Given the description of an element on the screen output the (x, y) to click on. 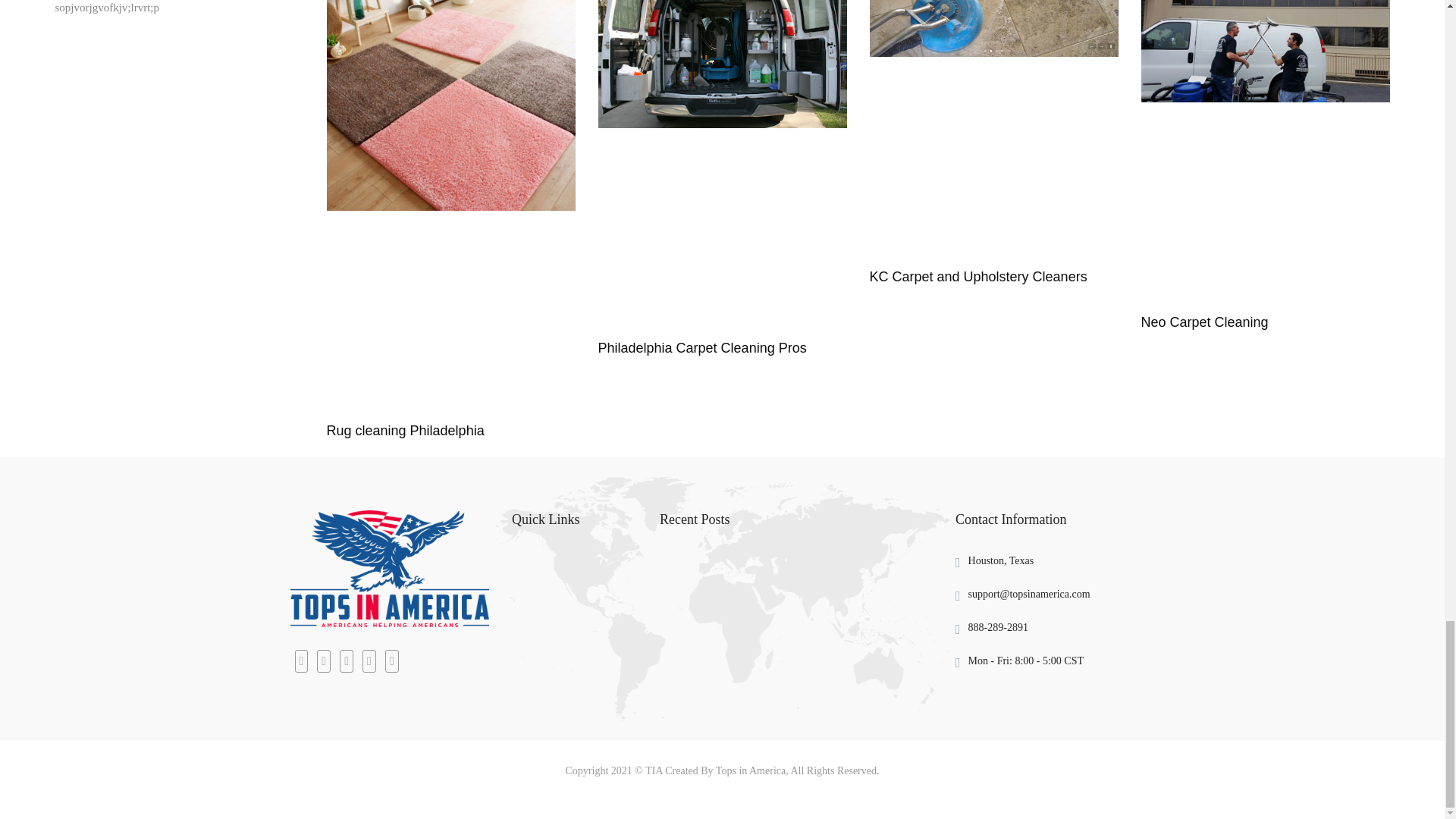
KC Carpet and Upholstery Cleaners (977, 276)
Rug cleaning Philadelphia (404, 430)
Neo Carpet Cleaning (1204, 322)
Philadelphia Carpet Cleaning Pros (701, 347)
